Given the description of an element on the screen output the (x, y) to click on. 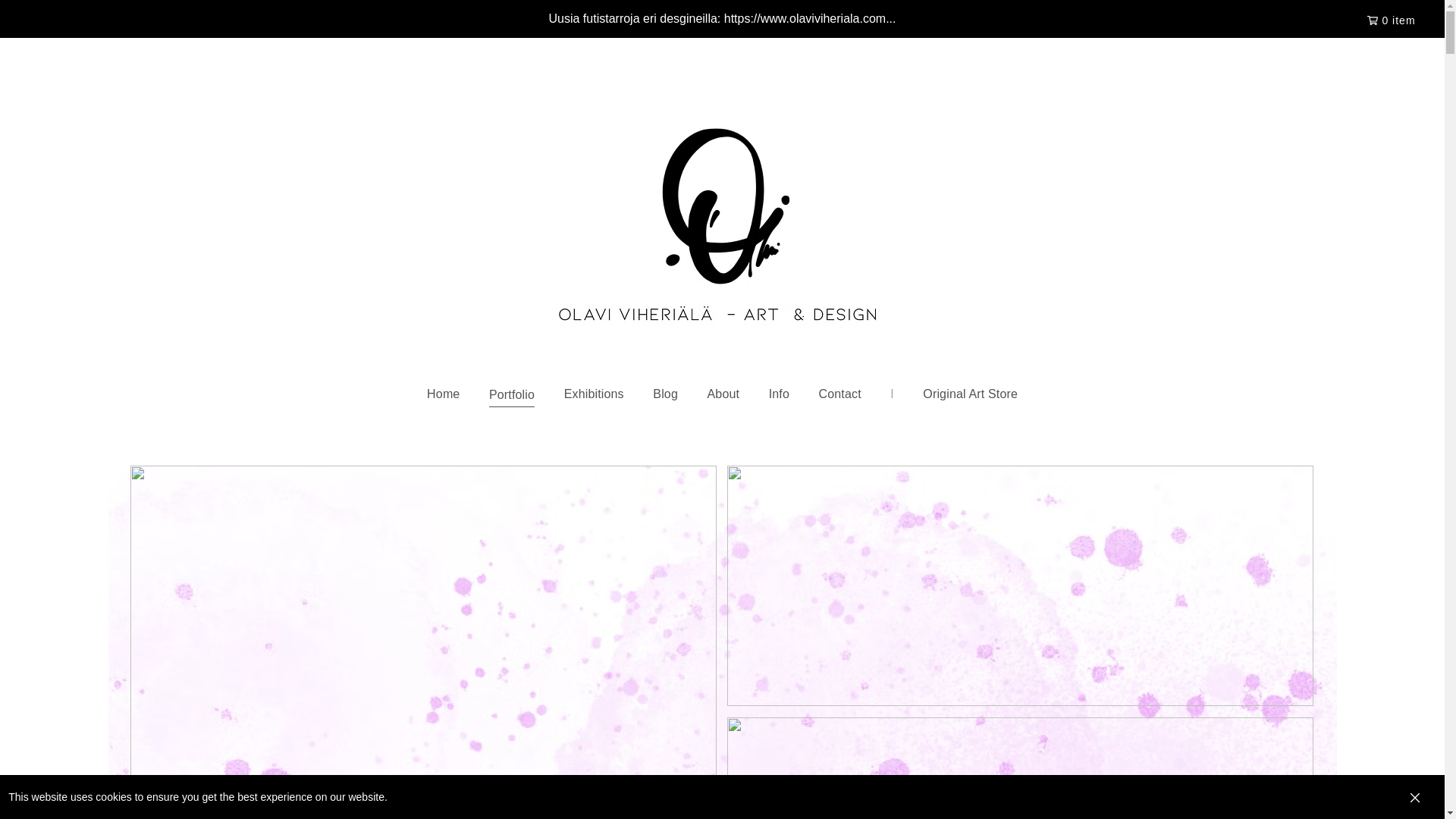
Original Art Store (970, 395)
Portfolio (511, 395)
Contact (839, 395)
Home (443, 395)
About (722, 395)
Exhibitions (593, 395)
Blog (665, 395)
